Given the description of an element on the screen output the (x, y) to click on. 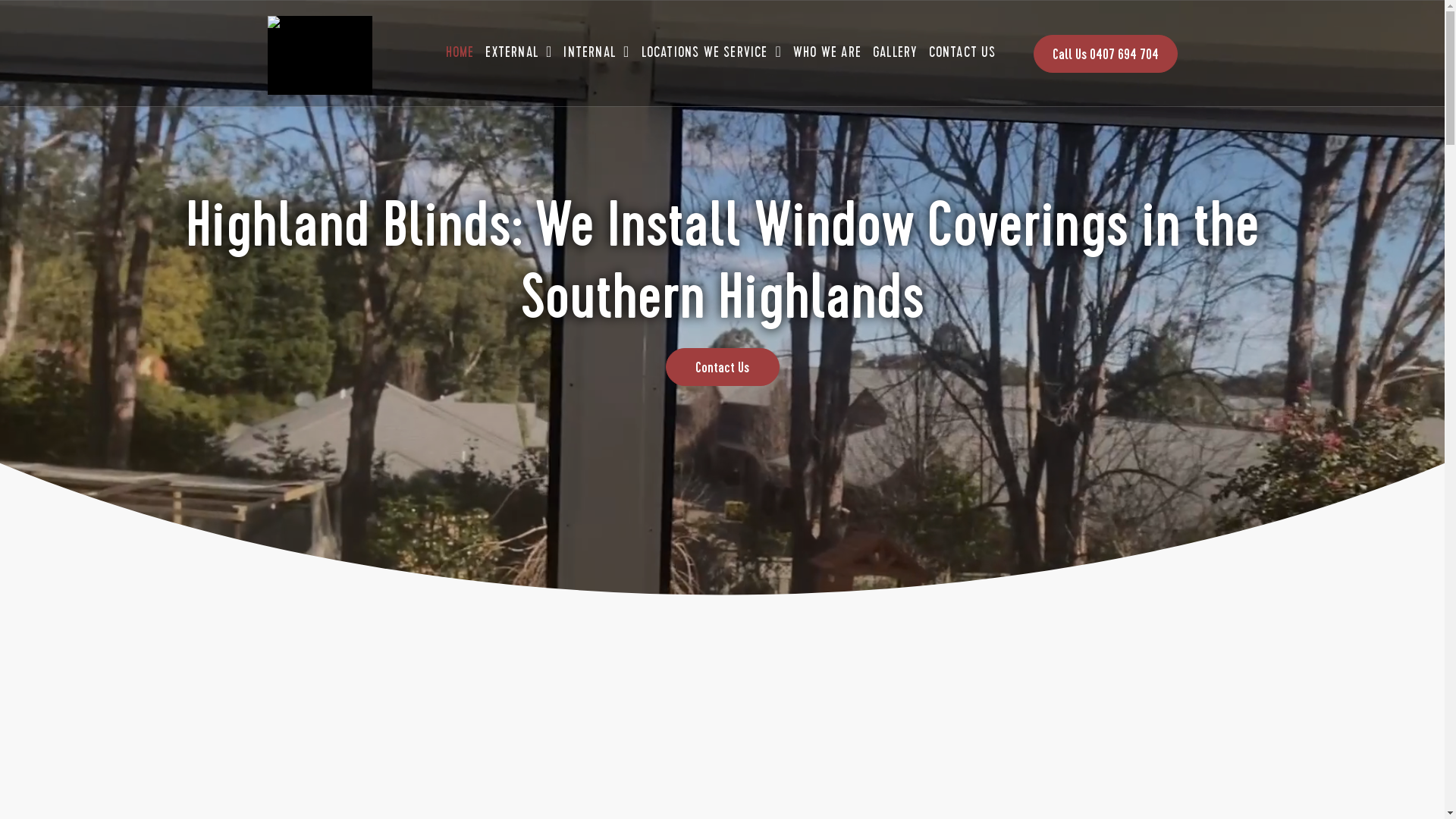
INTERNAL Element type: text (598, 51)
Contact Us Element type: text (722, 366)
CONTACT US Element type: text (963, 51)
GALLERY Element type: text (896, 51)
Call Us 0407 694 704 Element type: text (1104, 53)
LOCATIONS WE SERVICE Element type: text (713, 51)
HOME Element type: text (461, 51)
EXTERNAL Element type: text (520, 51)
WHO WE ARE Element type: text (829, 51)
